Given the description of an element on the screen output the (x, y) to click on. 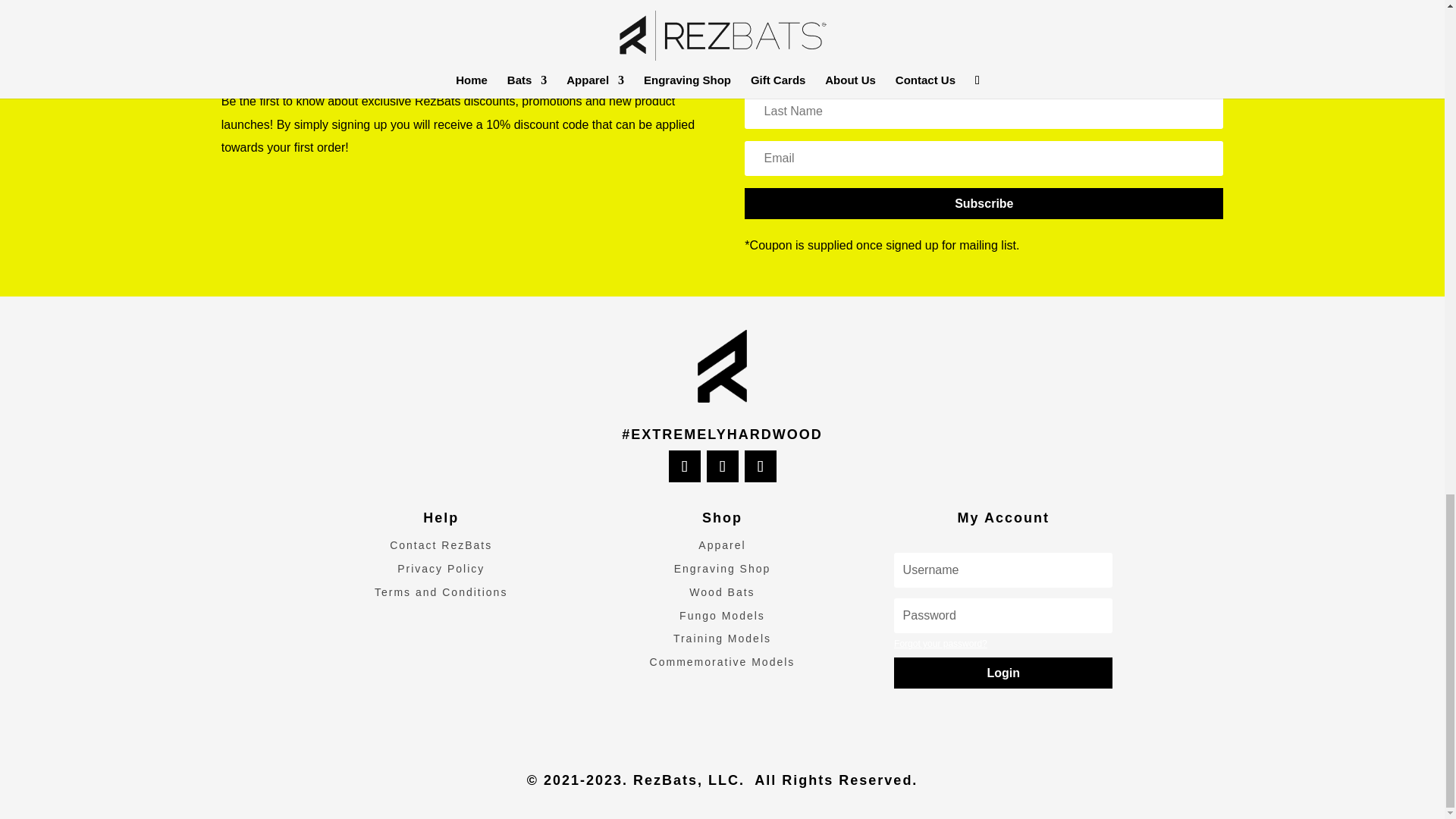
Follow on Facebook (684, 466)
Subscribe (983, 203)
Follow on X (722, 466)
Follow on Instagram (760, 466)
